Given the description of an element on the screen output the (x, y) to click on. 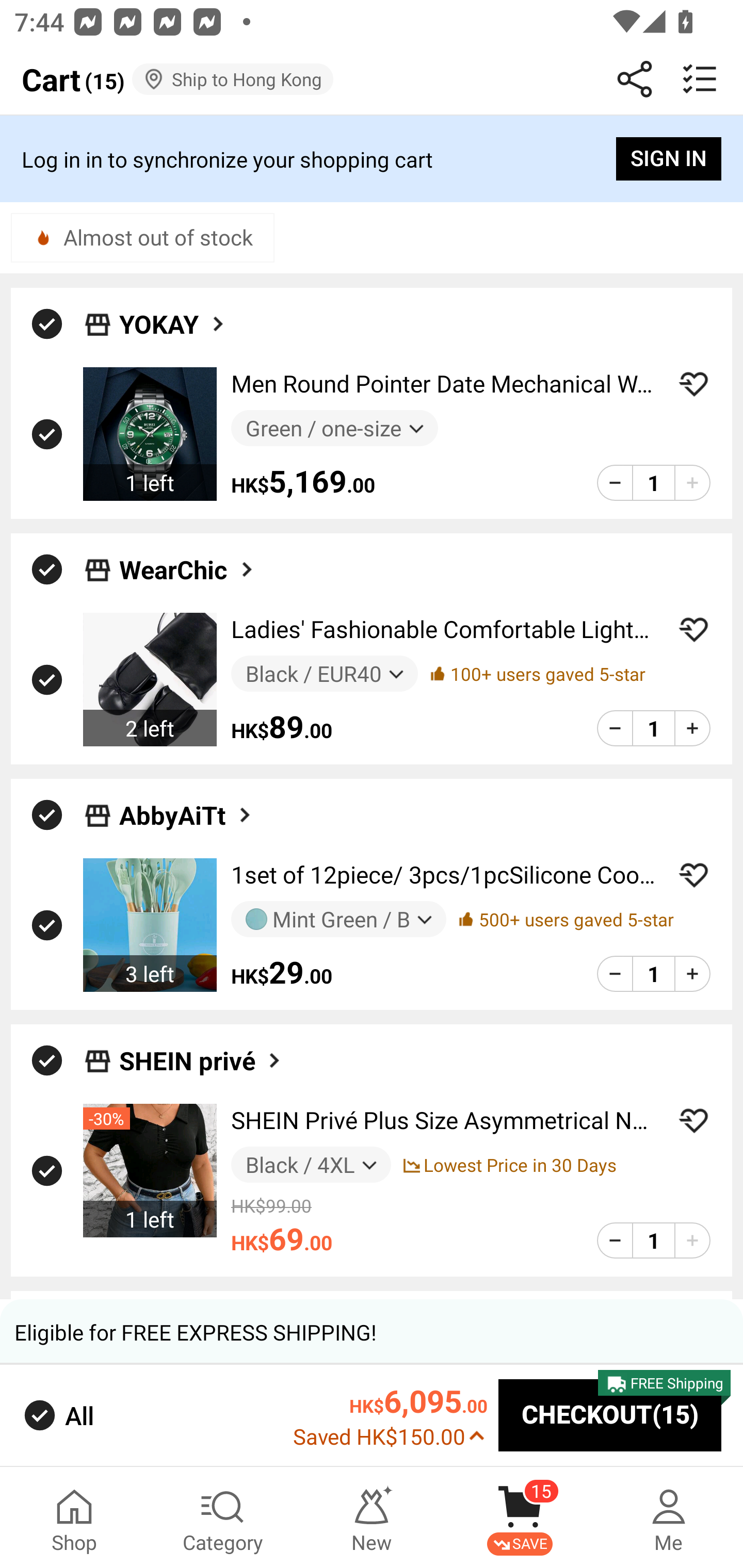
Cart (15) Ship to Hong Kong Share batch delete (371, 79)
Share (634, 79)
batch delete (699, 79)
Ship to Hong Kong (232, 78)
SIGN IN (668, 158)
Almost out of stock (142, 237)
YOKAY (173, 323)
ADD TO WISHLIST (693, 383)
Green / one-size (334, 428)
product quantity minus 1 (614, 482)
1 edit product quantity (653, 482)
product quantity add 1 (692, 482)
WearChic (187, 568)
ADD TO WISHLIST (693, 629)
Black / EUR40 (324, 673)
product quantity minus 1 (614, 728)
1 edit product quantity (653, 728)
product quantity add 1 (692, 728)
AbbyAiTt (186, 815)
ADD TO WISHLIST (693, 874)
 Mint Green / B (338, 919)
product quantity minus 1 (614, 974)
1 edit product quantity (653, 974)
product quantity add 1 (692, 974)
SHEIN privé (201, 1059)
ADD TO WISHLIST (693, 1119)
Black / 4XL (310, 1164)
product quantity minus 1 (614, 1241)
1 edit product quantity (653, 1241)
product quantity add 1 (692, 1241)
Eligible for FREE EXPRESS SHIPPING! (371, 1331)
CHECKOUT(15) (609, 1415)
HK$6,095.00 Saved HK$150.00 (389, 1414)
All (57, 1415)
Shop (74, 1517)
Category (222, 1517)
New (371, 1517)
